Given the description of an element on the screen output the (x, y) to click on. 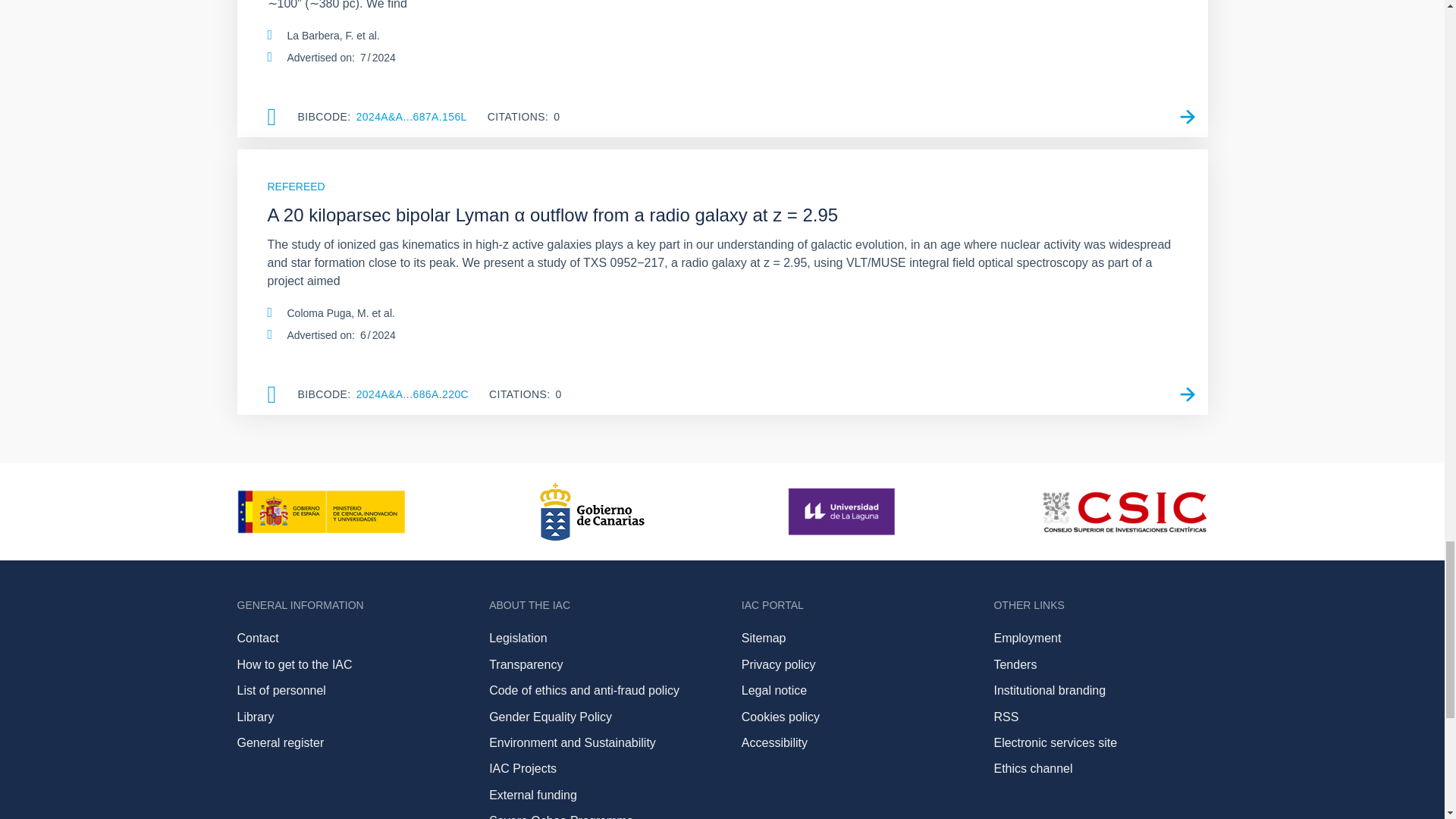
CSIC (1124, 511)
Universidad de La Laguna (842, 511)
Gobierno de Canarias (591, 511)
Electronic services site (1054, 742)
